Given the description of an element on the screen output the (x, y) to click on. 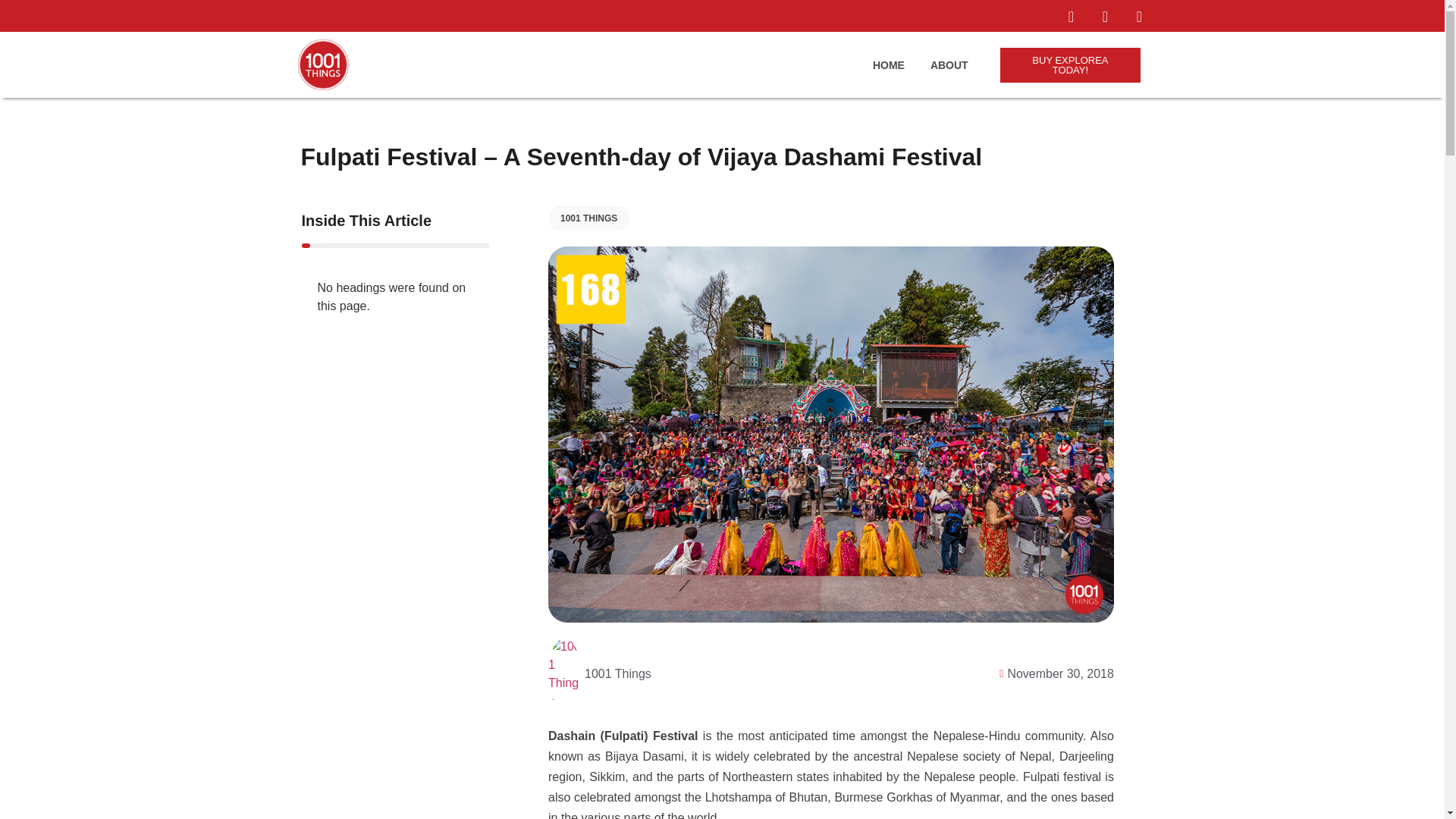
BUY EXPLOREA TODAY! (1070, 63)
1001 Things (599, 670)
ABOUT (948, 63)
November 30, 2018 (1052, 670)
HOME (887, 63)
